Given the description of an element on the screen output the (x, y) to click on. 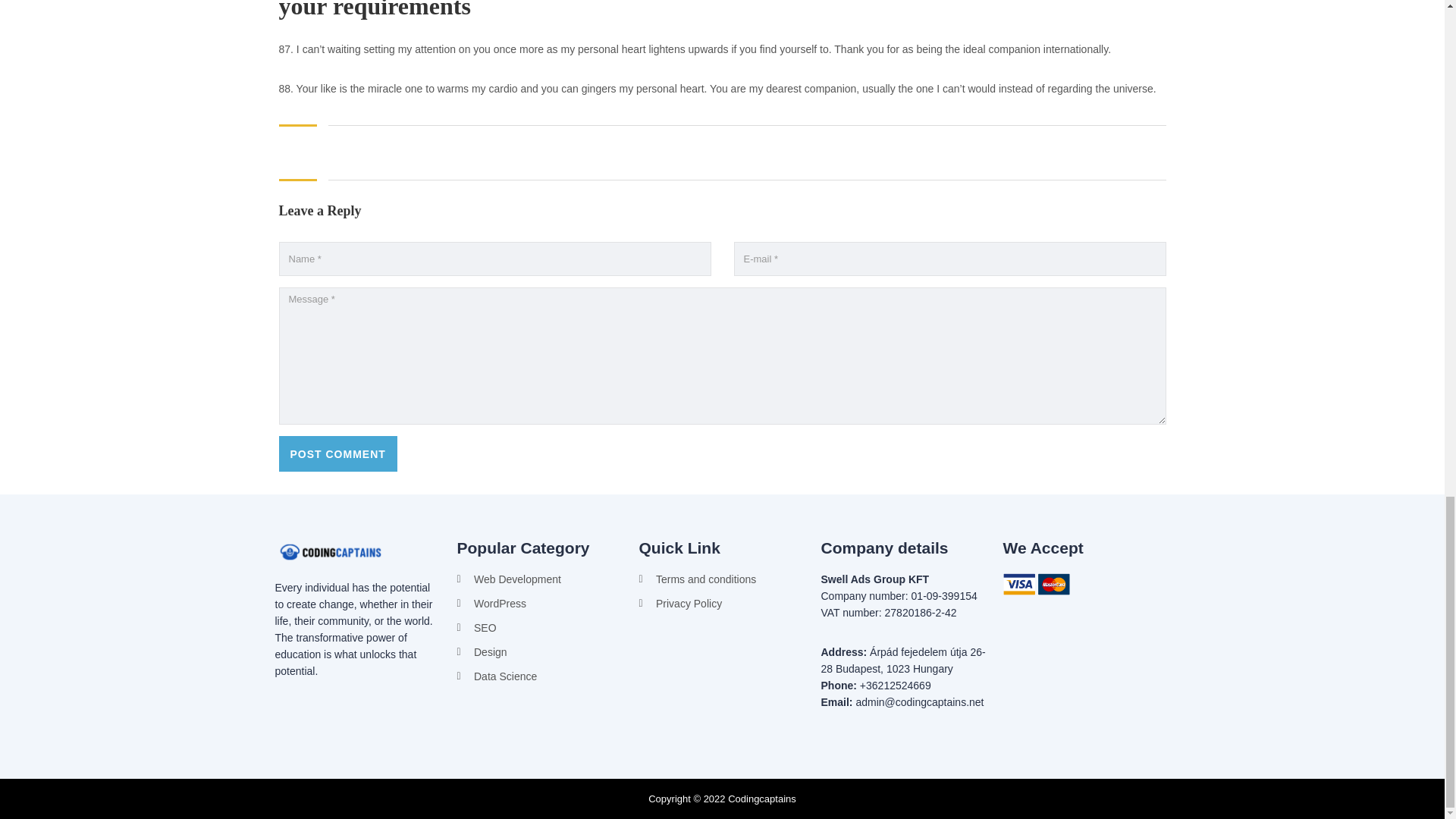
Terms and conditions (722, 579)
Design (540, 651)
Web Development (540, 579)
Data Science (540, 676)
Post Comment (338, 453)
Privacy Policy (722, 603)
WordPress (540, 603)
Post Comment (338, 453)
SEO (540, 627)
